Given the description of an element on the screen output the (x, y) to click on. 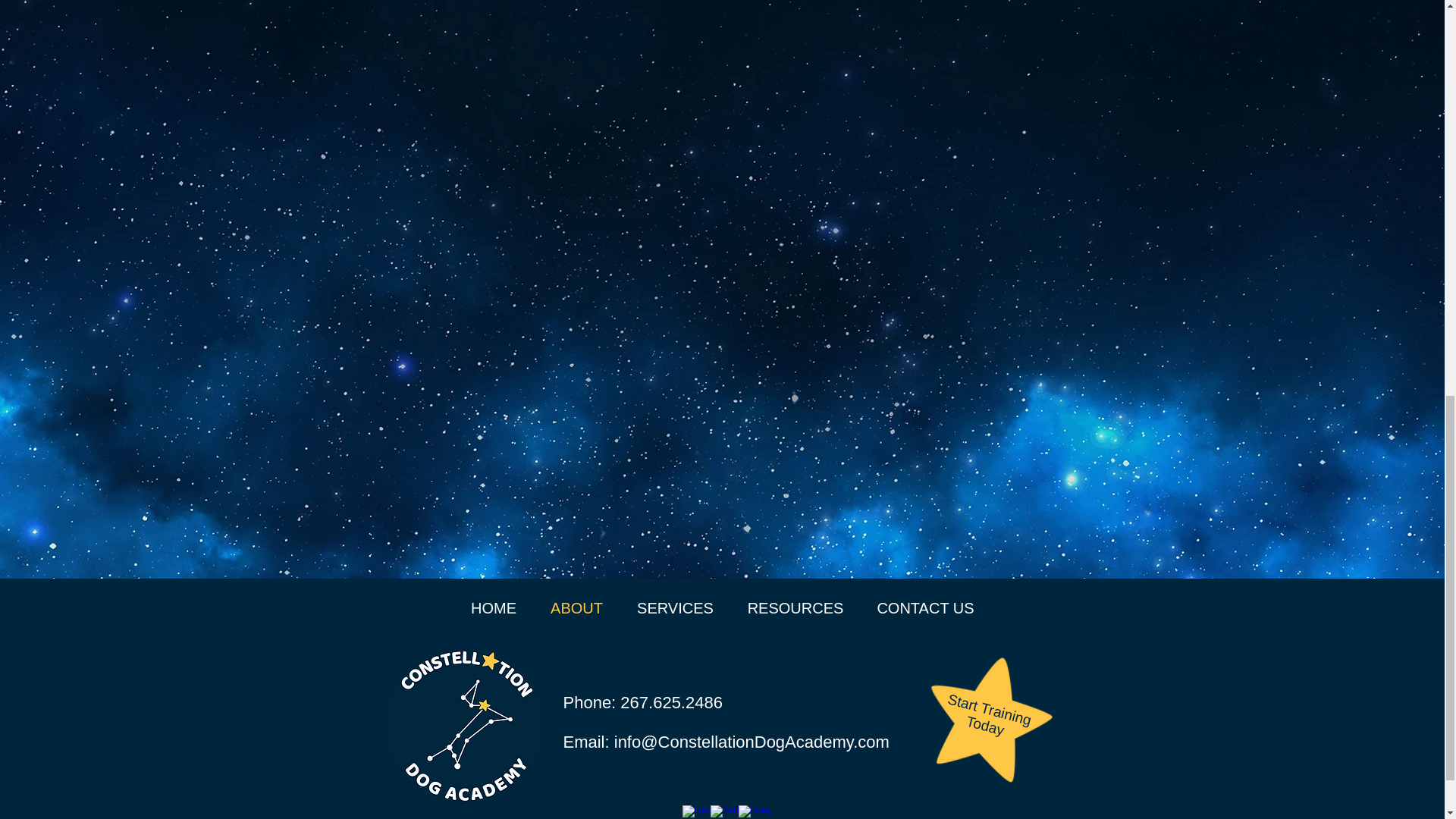
ABOUT (577, 607)
SERVICES (675, 607)
CONTACT US (925, 607)
Start Training (987, 698)
RESOURCES (795, 607)
HOME (492, 607)
